Given the description of an element on the screen output the (x, y) to click on. 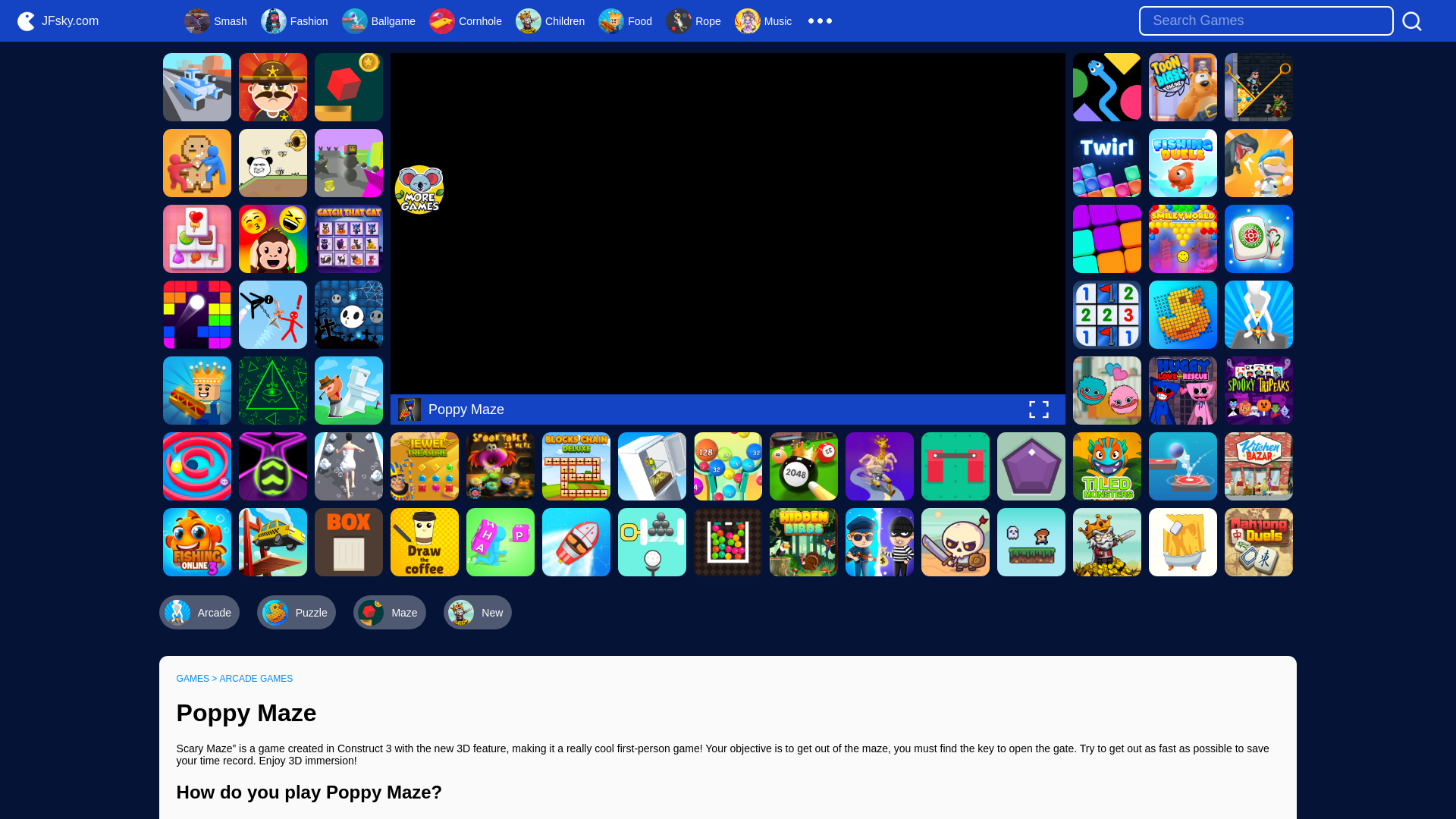
Fashion (294, 20)
JFsky.com (56, 20)
Rope (692, 20)
Ballgame (378, 20)
Smash (215, 20)
Food (625, 20)
Cornhole (465, 20)
Children (550, 20)
Music (763, 20)
